Given the description of an element on the screen output the (x, y) to click on. 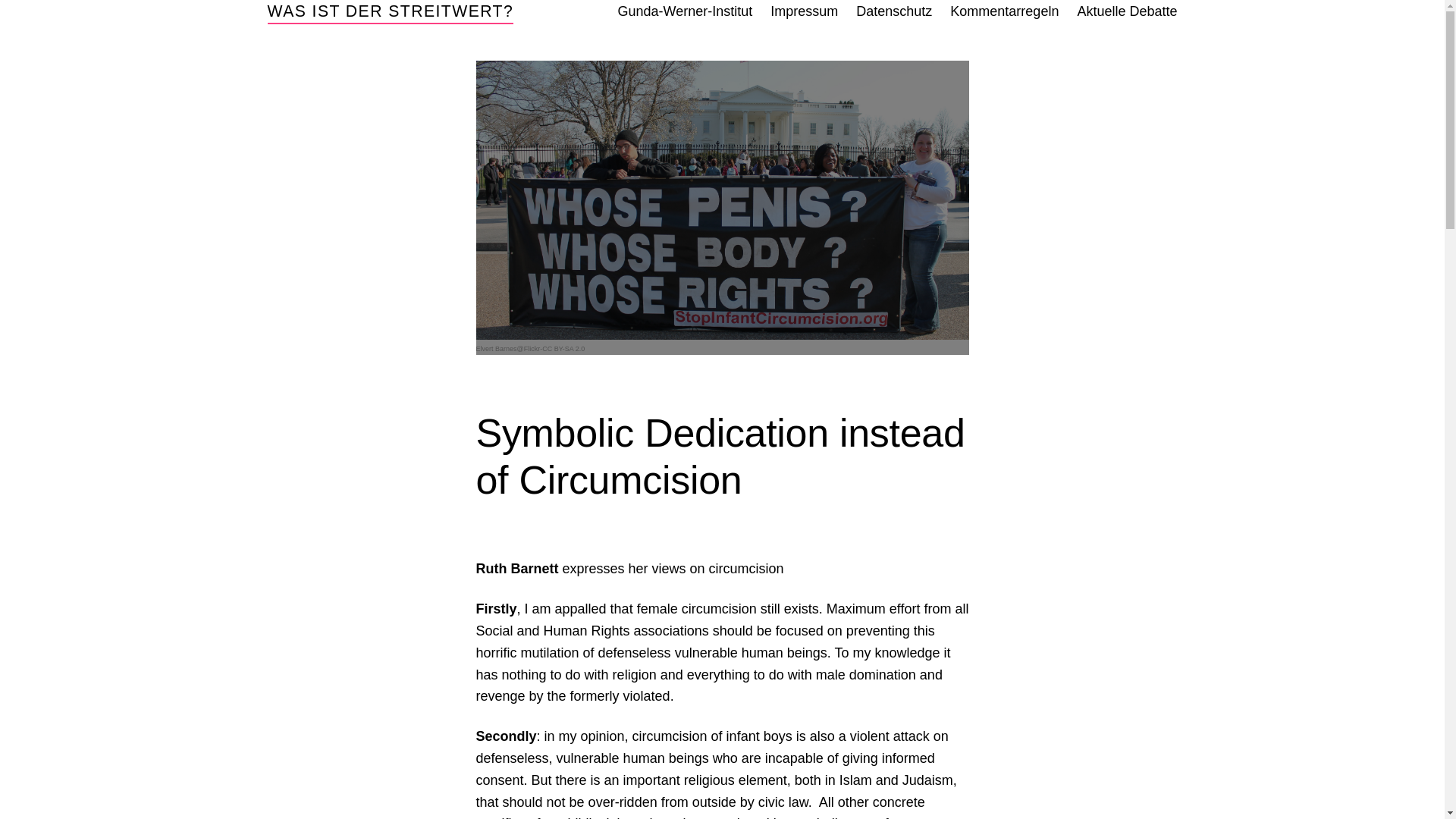
WAS IST DER STREITWERT? (389, 10)
Kommentarregeln (1004, 11)
Datenschutz (893, 11)
Aktuelle Debatte (1126, 11)
Impressum (804, 11)
Gunda-Werner-Institut (684, 11)
